Given the description of an element on the screen output the (x, y) to click on. 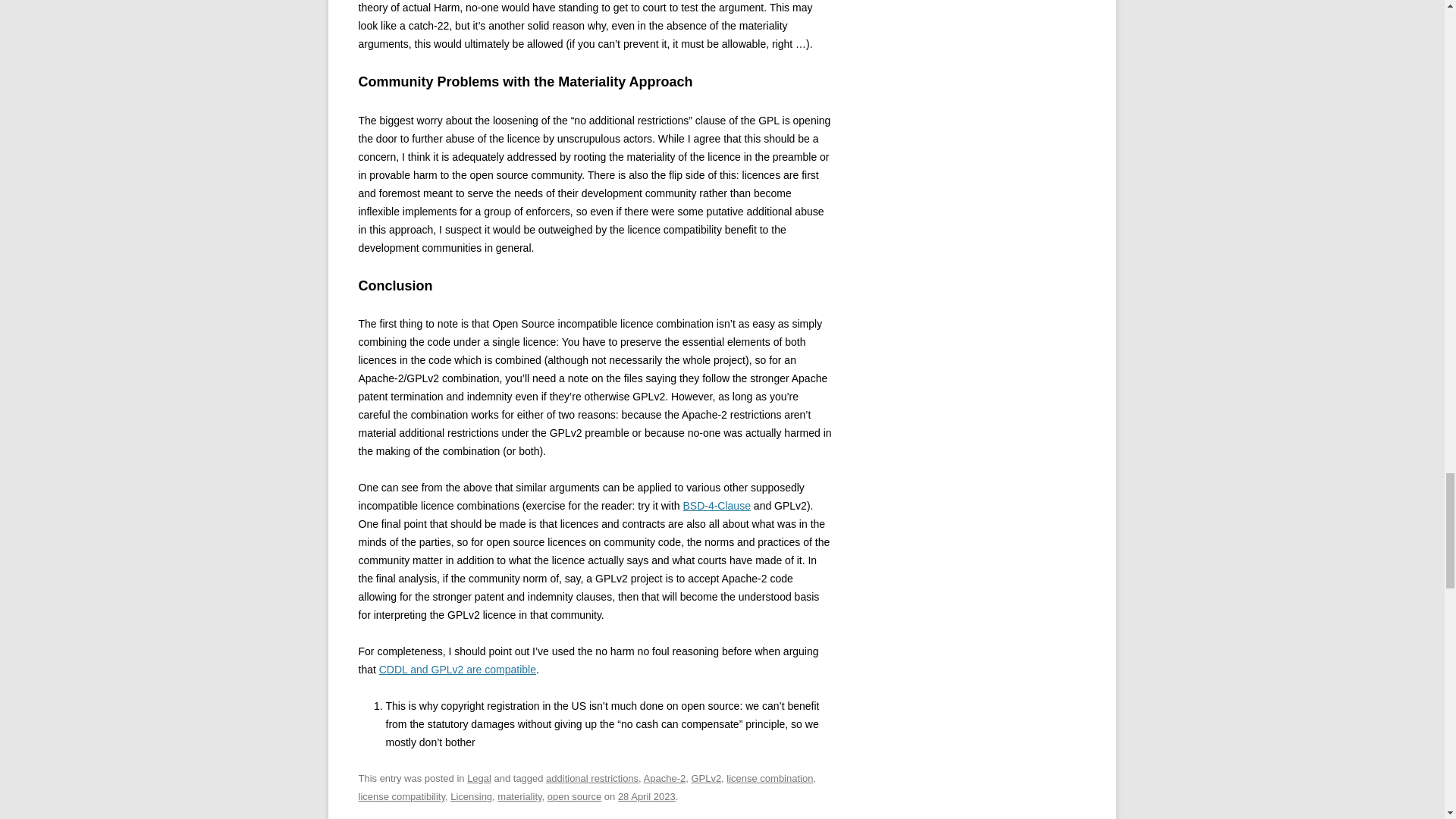
license compatibility (401, 796)
GPLv2 (705, 778)
additional restrictions (592, 778)
license combination (769, 778)
06:27 (646, 796)
materiality (519, 796)
BSD-4-Clause (715, 505)
open source (574, 796)
Apache-2 (664, 778)
Legal (479, 778)
